Given the description of an element on the screen output the (x, y) to click on. 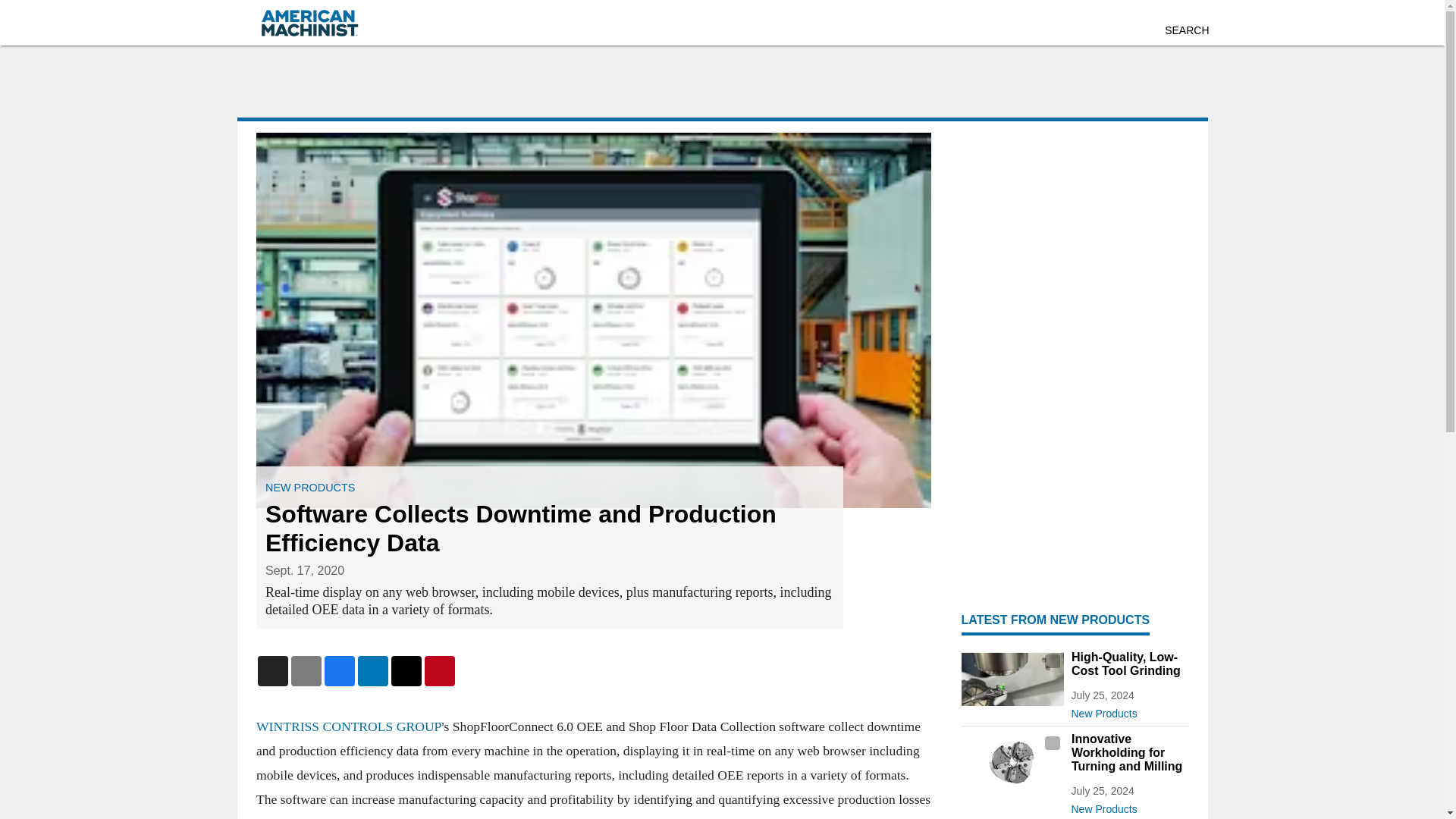
High-Quality, Low-Cost Tool Grinding (1129, 664)
NEW PRODUCTS (309, 487)
New Products (1129, 710)
Innovative Workholding for Turning and Milling (1129, 752)
SEARCH (1186, 30)
New Products (1129, 805)
WINTRISS CONTROLS GROUP (348, 726)
